Given the description of an element on the screen output the (x, y) to click on. 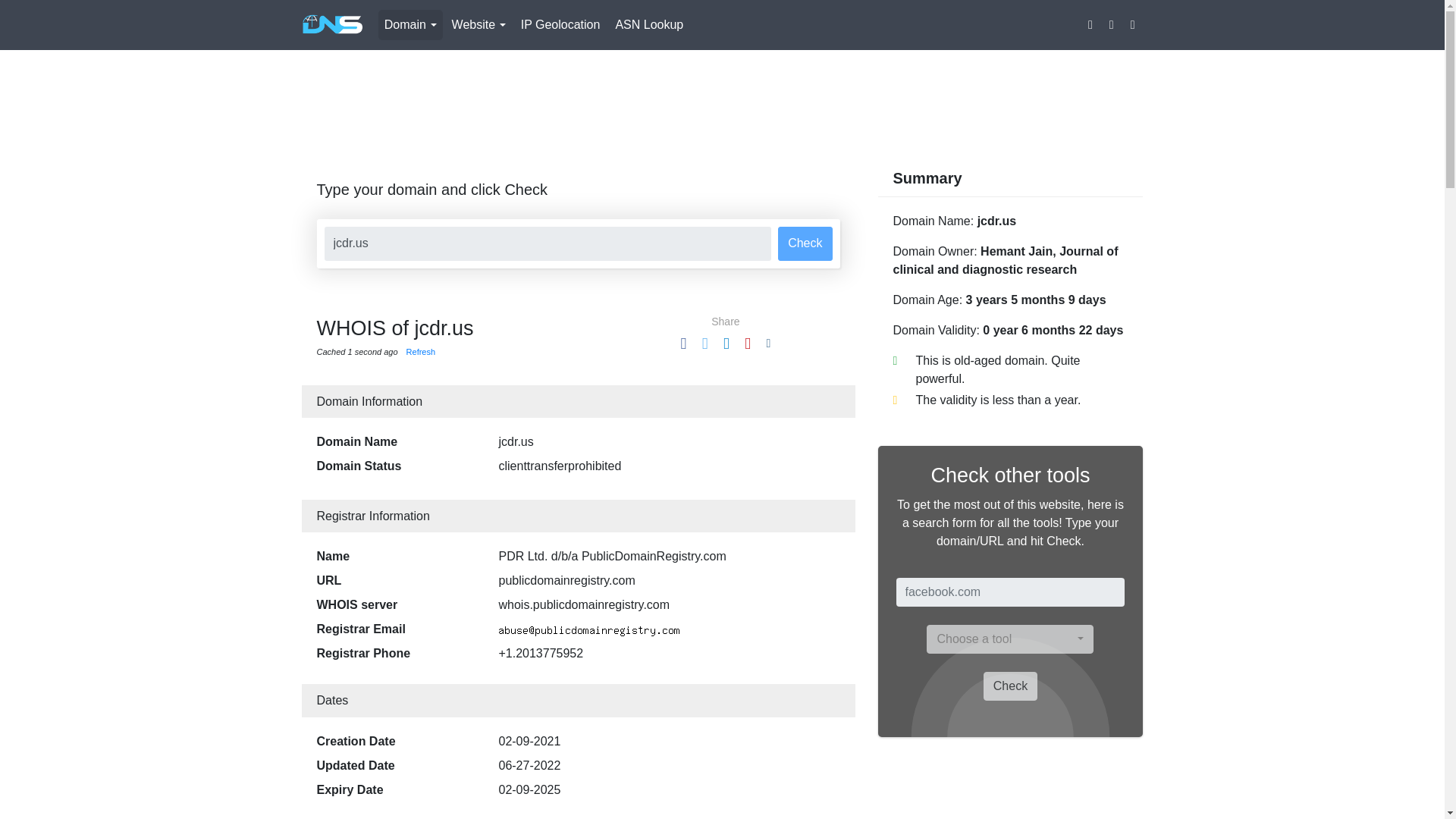
Choose a tool (1009, 638)
Domain (410, 24)
IP Geolocation (561, 24)
Refresh (420, 351)
jcdr.us (547, 243)
Check (1010, 686)
Check (804, 243)
ASN Lookup (648, 24)
Website (478, 24)
Advertisement (721, 101)
Choose a tool (1009, 638)
